Given the description of an element on the screen output the (x, y) to click on. 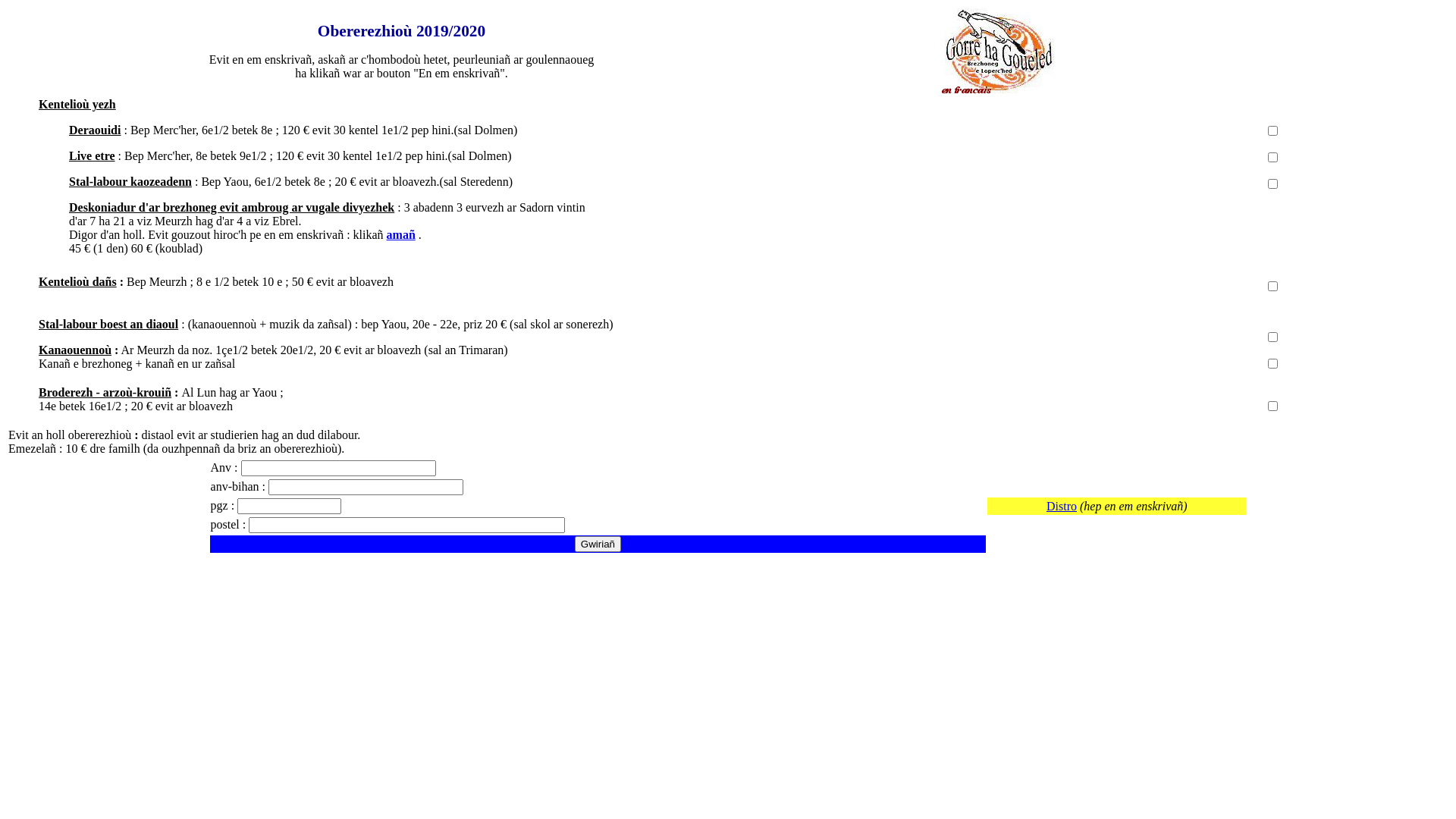
Kas Element type: text (592, 453)
Distro Element type: text (1061, 505)
